Given the description of an element on the screen output the (x, y) to click on. 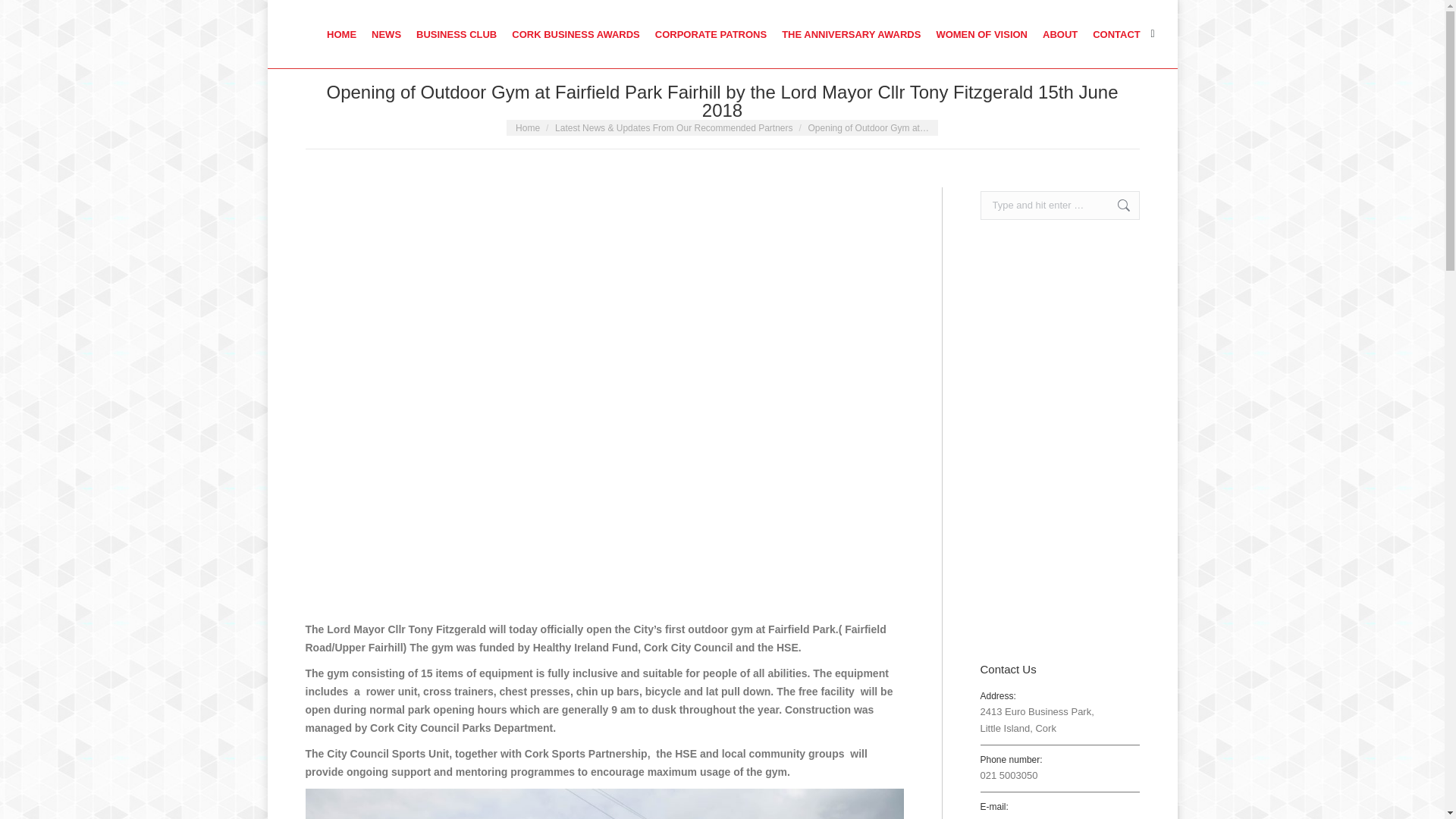
THE ANNIVERSARY AWARDS (850, 33)
CORK BUSINESS AWARDS (575, 33)
BUSINESS CLUB (456, 33)
Home (527, 127)
Home (527, 127)
WOMEN OF VISION (980, 33)
Go! (1115, 205)
Go! (22, 15)
CORPORATE PATRONS (710, 33)
Go! (1115, 205)
